Given the description of an element on the screen output the (x, y) to click on. 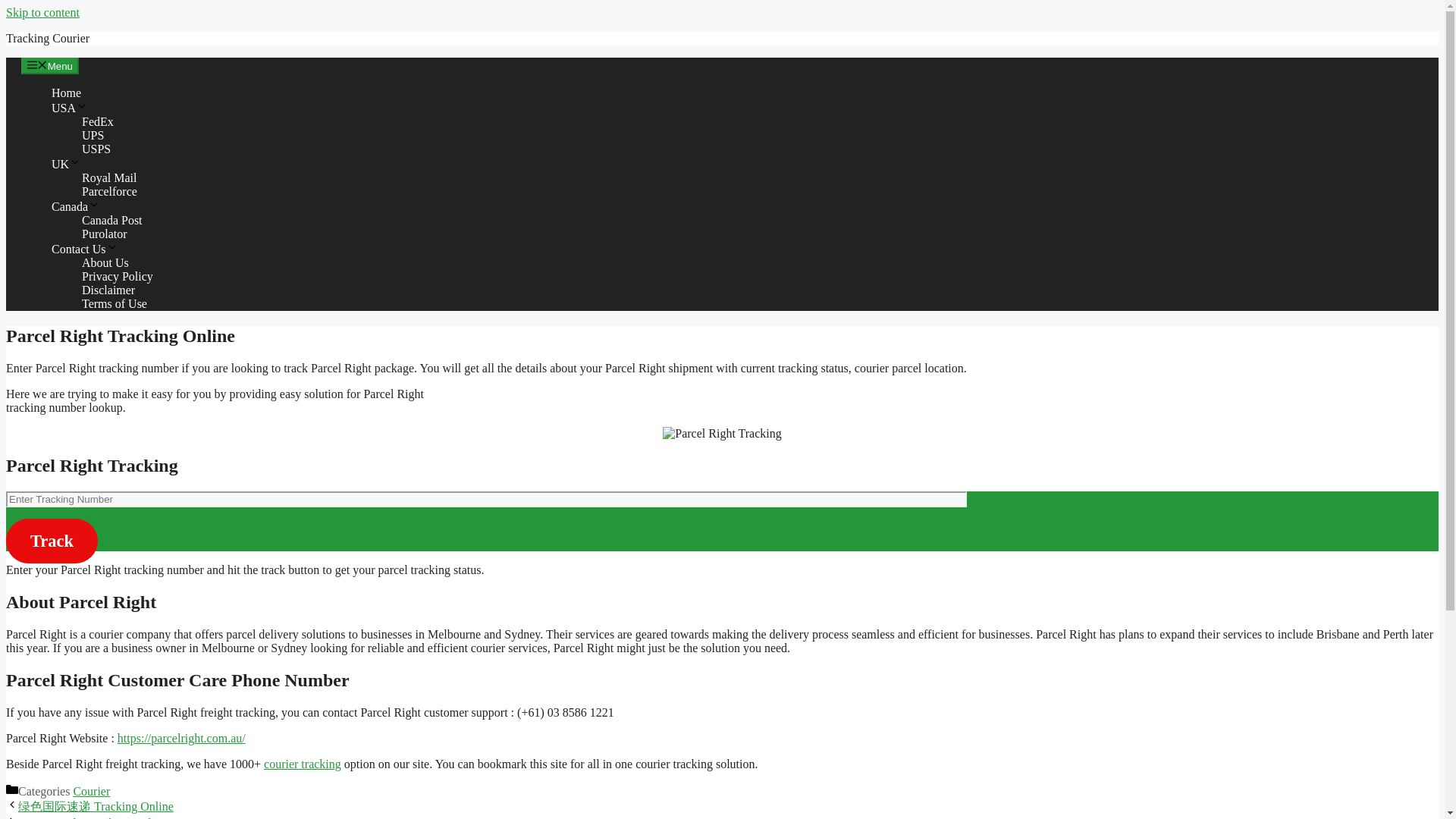
Terms of Use (114, 303)
Menu (49, 65)
Purolator (104, 233)
USA (68, 107)
UK (65, 164)
Parcelforce (108, 191)
Tracking Courier (46, 38)
Home (65, 92)
Royal Mail (108, 177)
courier tracking (301, 763)
